Given the description of an element on the screen output the (x, y) to click on. 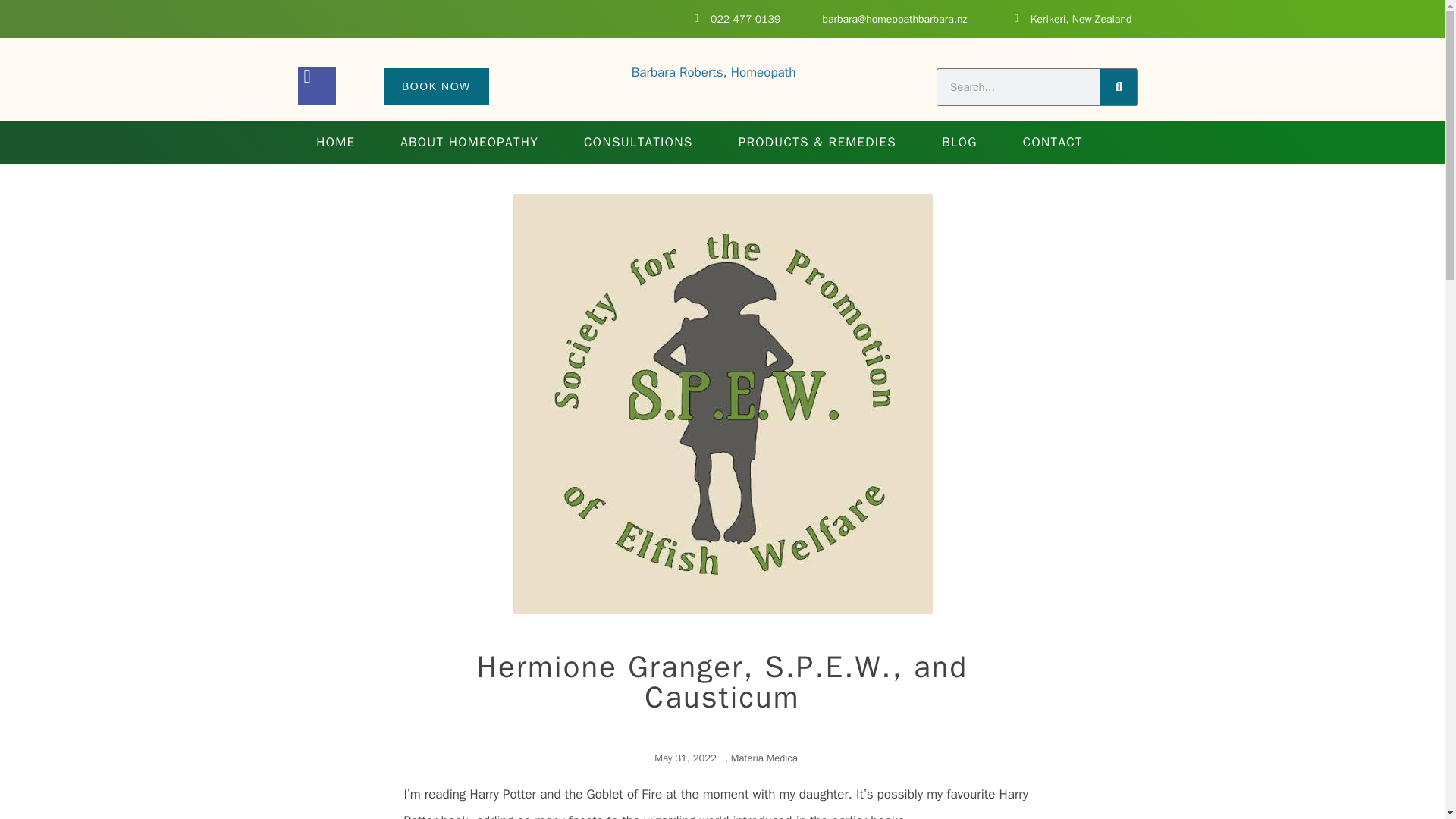
Barbara Roberts, Homeopath (713, 72)
HOME (335, 142)
BOOK NOW (436, 85)
BLOG (959, 142)
ABOUT HOMEOPATHY (468, 142)
CONSULTATIONS (638, 142)
May 31, 2022 (681, 758)
022 477 0139 (732, 18)
CONTACT (1052, 142)
Materia Medica (763, 757)
